Given the description of an element on the screen output the (x, y) to click on. 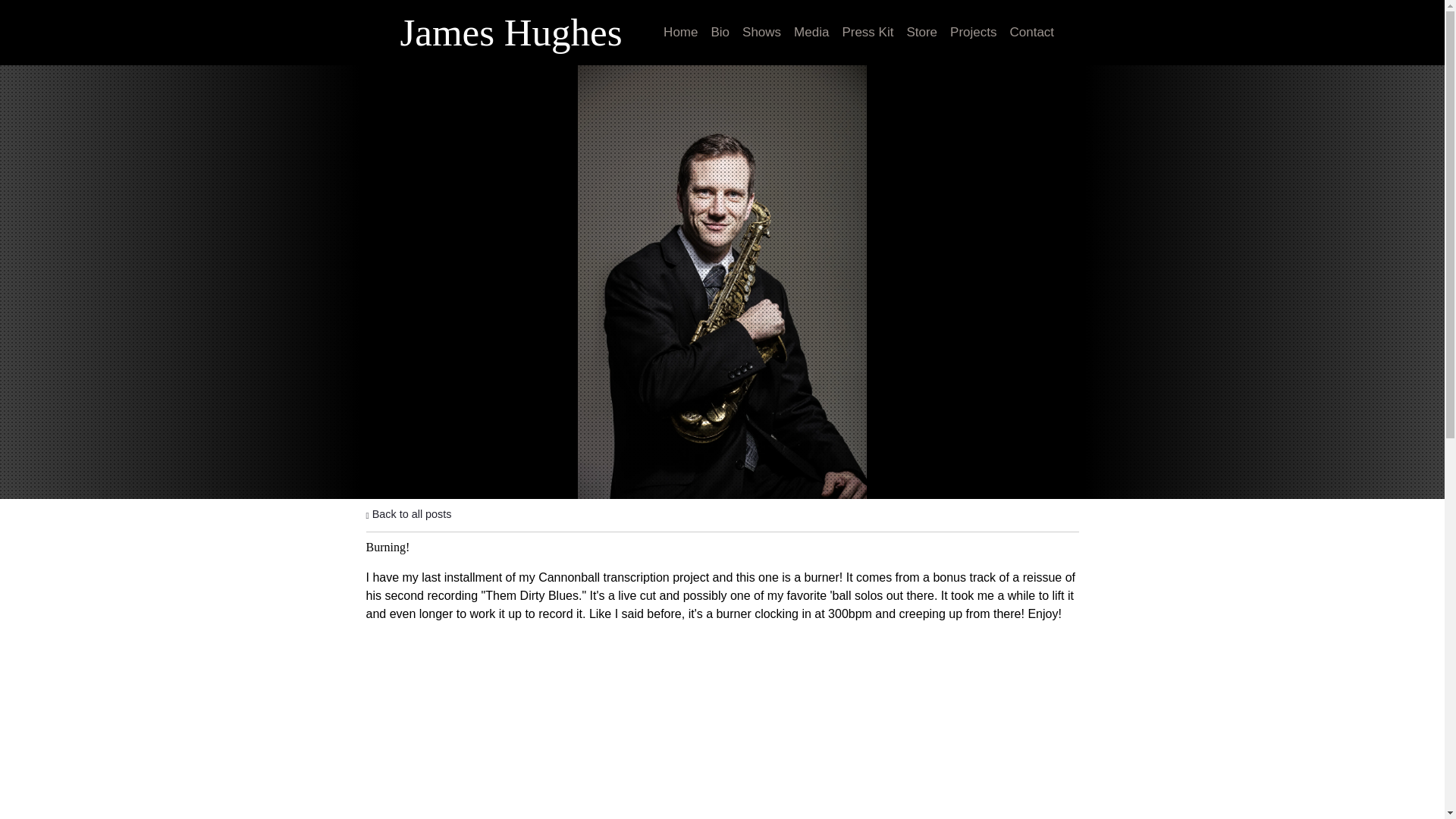
Home (680, 32)
James Hughes (509, 38)
Bio (719, 32)
Shows (761, 32)
Media (810, 32)
Press Kit (867, 32)
Store (921, 32)
Projects (972, 32)
Back to all posts (408, 513)
Contact (1031, 32)
